Given the description of an element on the screen output the (x, y) to click on. 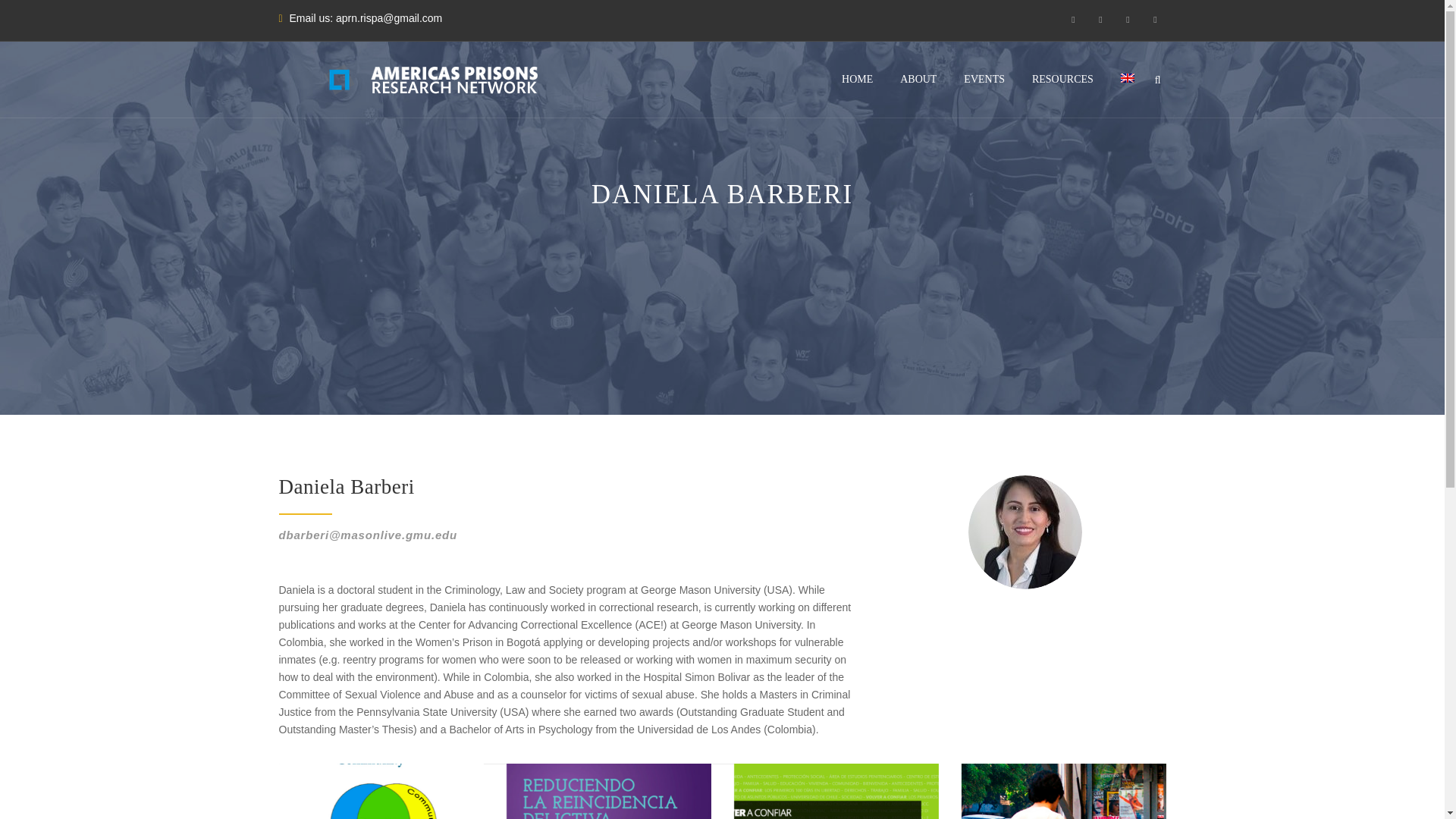
Facebook (1073, 19)
Asistencia postpenitenciaria en Chile (1063, 791)
Transition from Jail to Community (381, 791)
Reduciendo la reincidencia delictiva (608, 791)
Twitter (1101, 19)
barberi foto (1024, 531)
Search (1150, 155)
Americas Prisons Research Network (445, 78)
English (1127, 77)
